Given the description of an element on the screen output the (x, y) to click on. 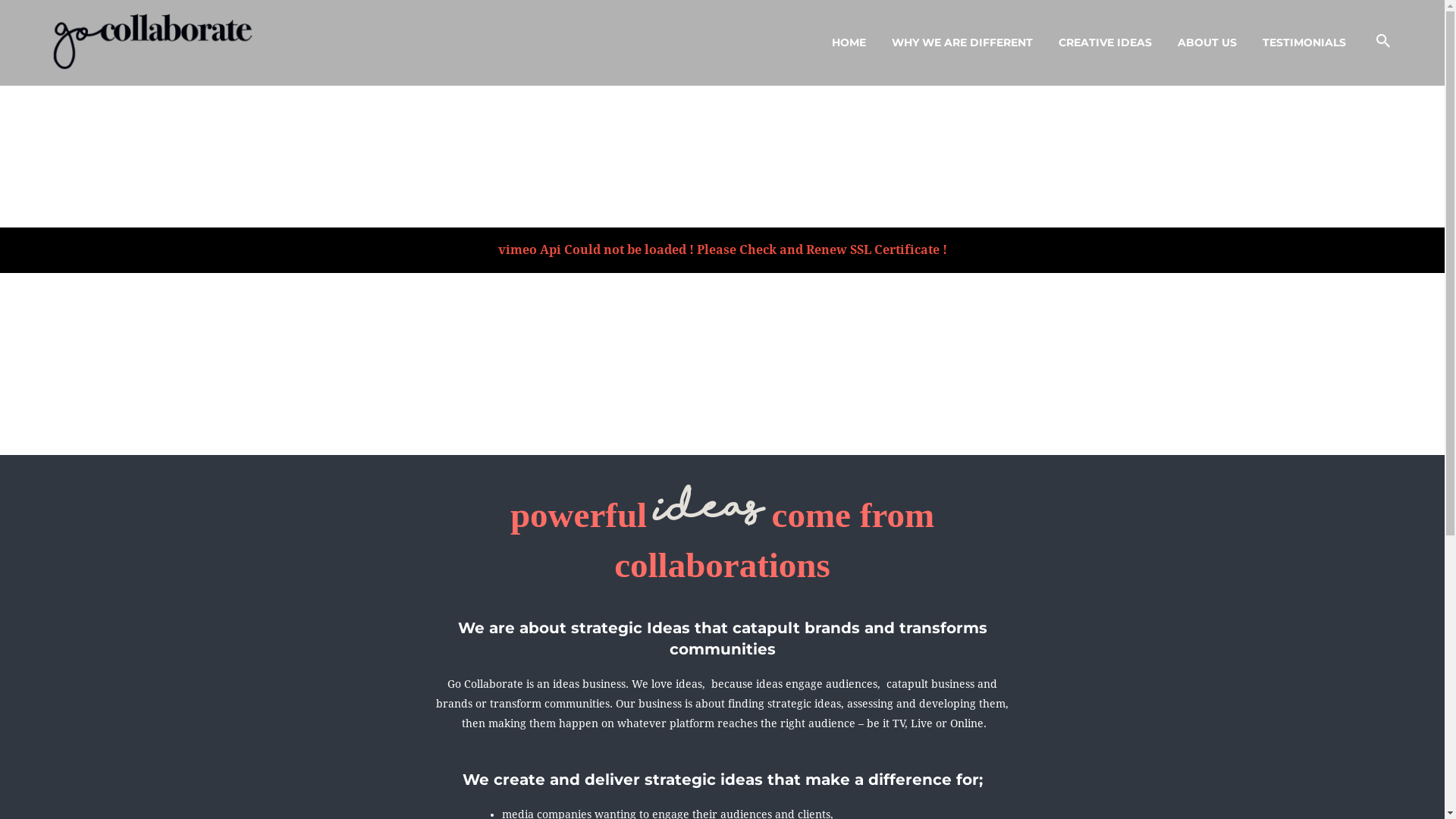
Logo Element type: hover (151, 41)
HOME Element type: text (848, 42)
Logo Element type: hover (153, 42)
WHY WE ARE DIFFERENT Element type: text (961, 42)
CREATIVE IDEAS Element type: text (1104, 42)
TESTIMONIALS Element type: text (1303, 42)
ABOUT US Element type: text (1206, 42)
